Given the description of an element on the screen output the (x, y) to click on. 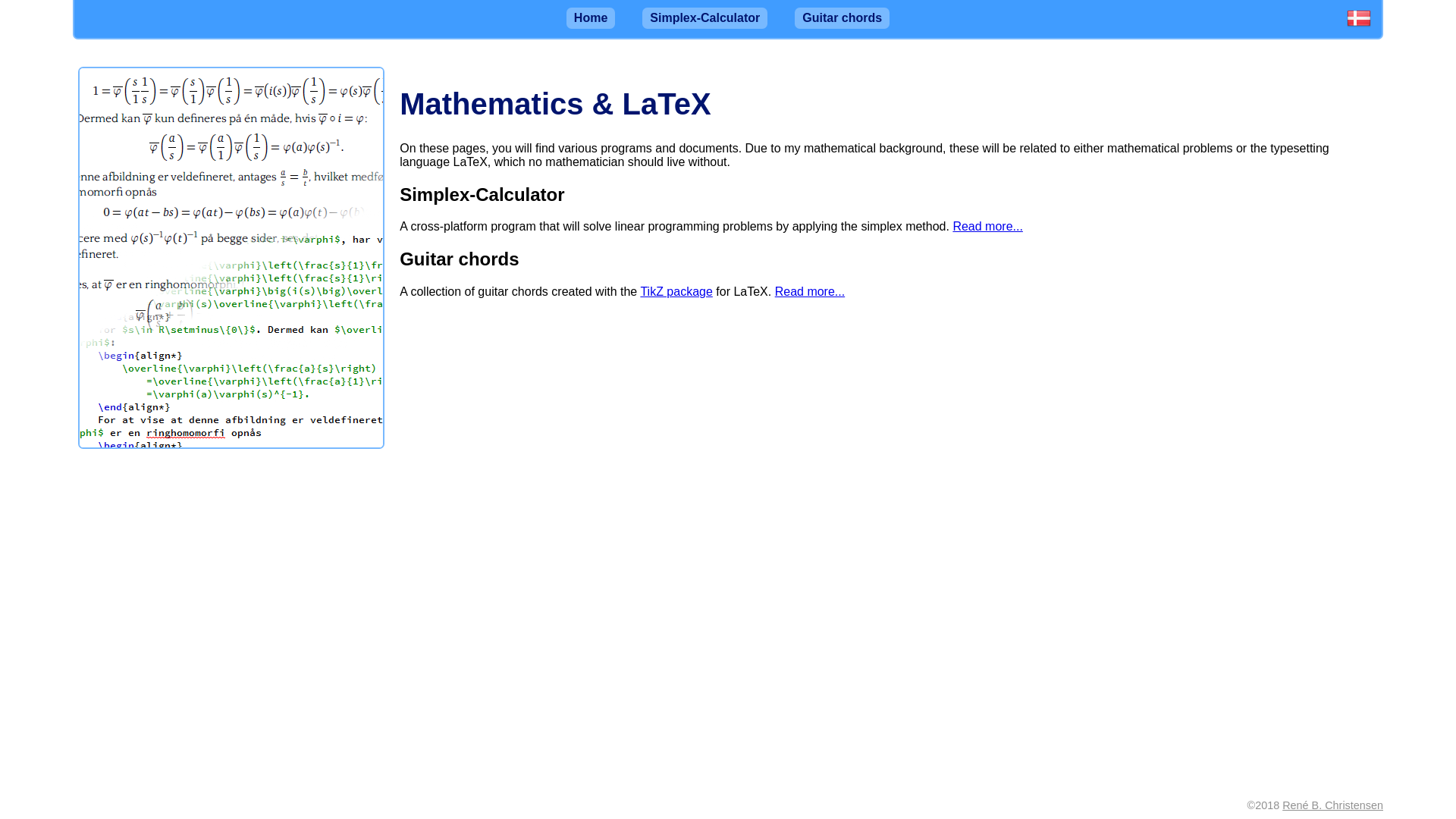
Read more... (809, 291)
Guitar chords (841, 17)
Read more... (987, 226)
Simplex-Calculator (704, 17)
Home (590, 17)
TikZ package (675, 291)
